Given the description of an element on the screen output the (x, y) to click on. 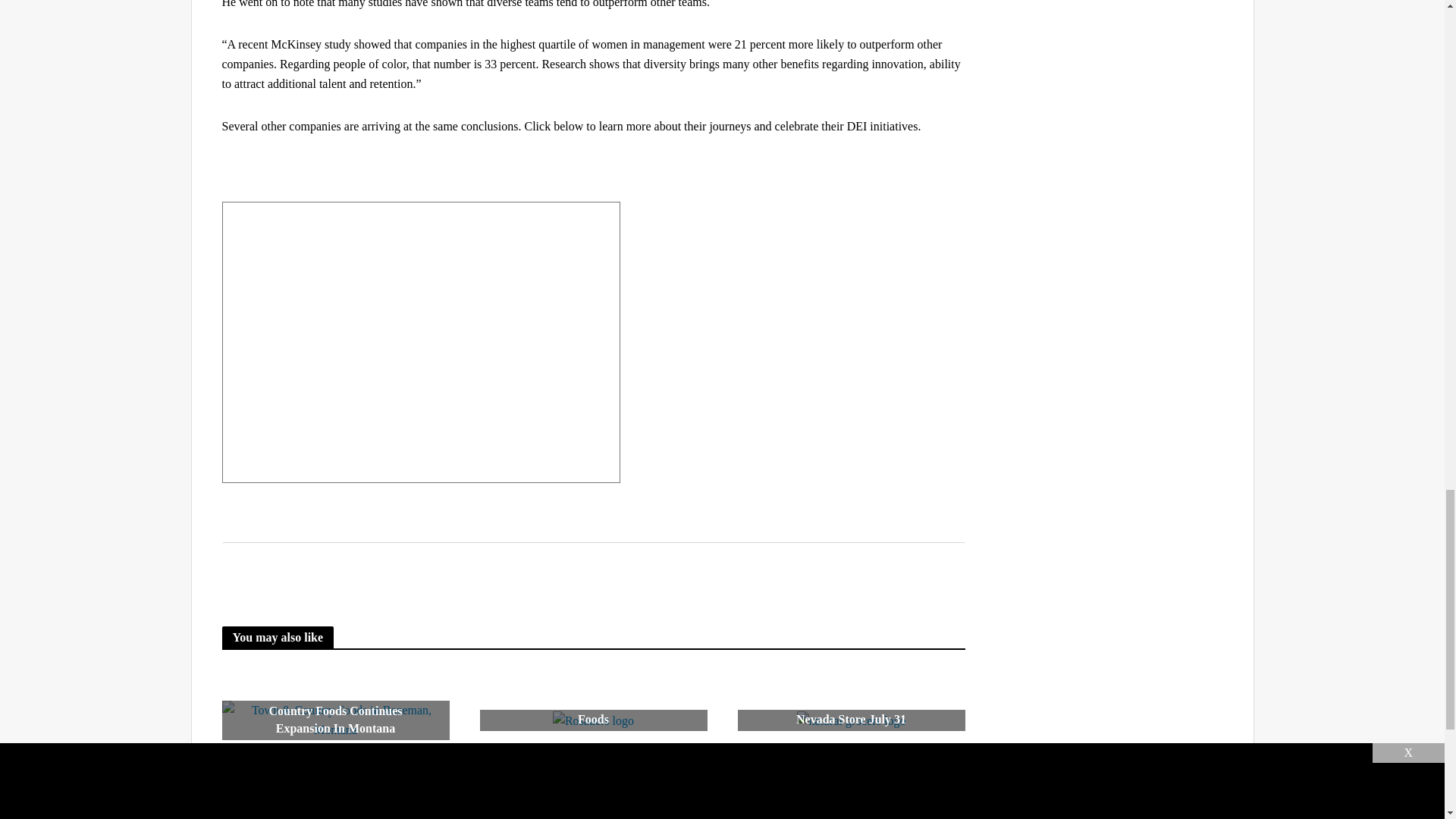
Natural Grocers To Open New Nevada Store July 31 (849, 720)
